Given the description of an element on the screen output the (x, y) to click on. 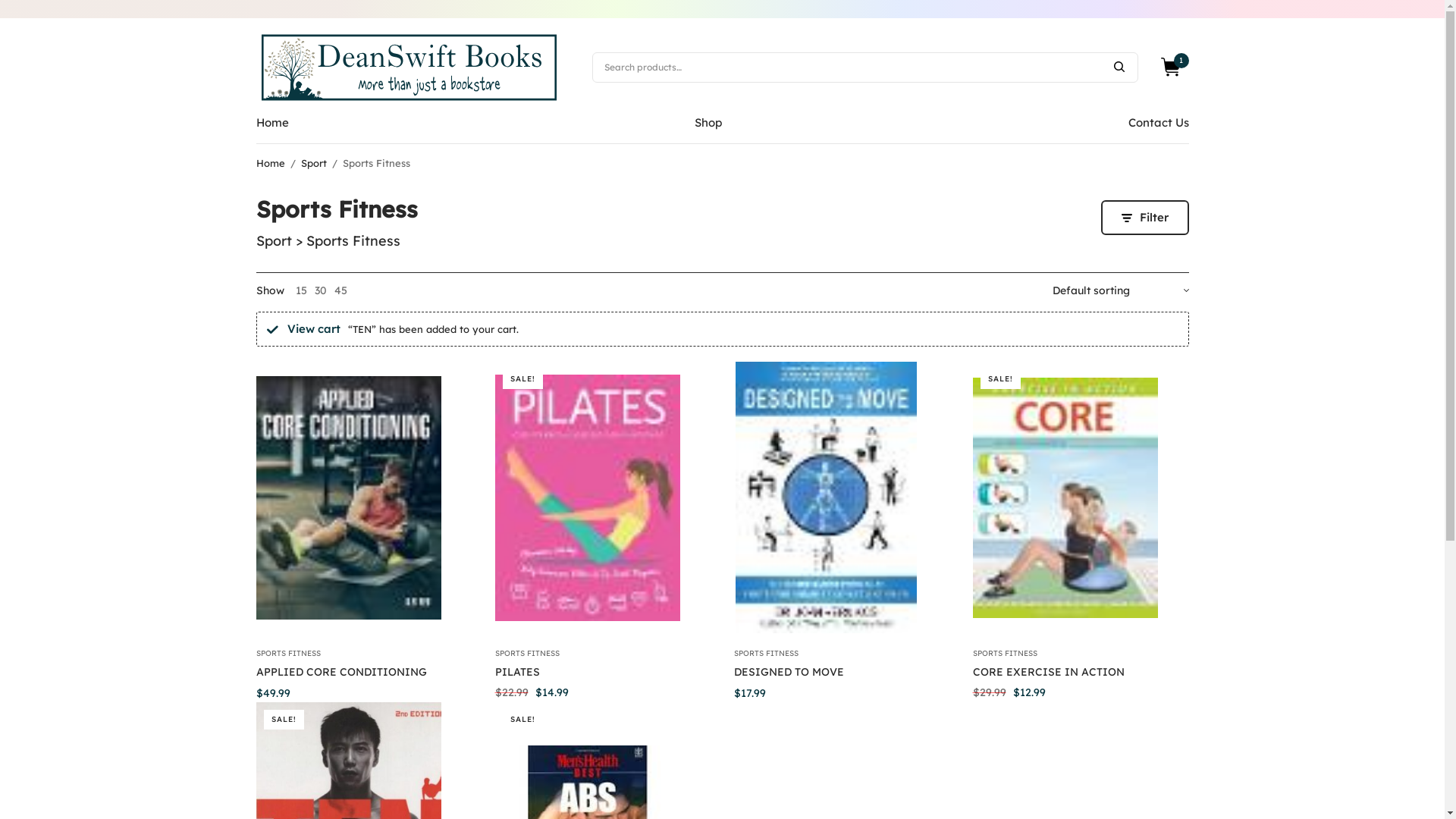
Home Element type: text (270, 162)
45 Element type: text (339, 290)
Shop Element type: text (707, 122)
SPORTS FITNESS Element type: text (1004, 653)
15 Element type: text (301, 290)
SPORTS FITNESS Element type: text (766, 653)
Contact Us Element type: text (1158, 122)
Sport Element type: text (313, 162)
PILATES Element type: text (516, 671)
SALE! Element type: text (1080, 497)
CORE EXERCISE IN ACTION Element type: text (1047, 671)
DESIGNED TO MOVE Element type: text (789, 671)
View cart Element type: text (312, 328)
Filter Element type: text (1145, 217)
30 Element type: text (319, 290)
DeanSwift Books Element type: hover (409, 67)
APPLIED CORE CONDITIONING Element type: text (341, 671)
SPORTS FITNESS Element type: text (288, 653)
SPORTS FITNESS Element type: text (526, 653)
SALE! Element type: text (602, 497)
Search Element type: text (1118, 66)
Home Element type: text (272, 122)
